Given the description of an element on the screen output the (x, y) to click on. 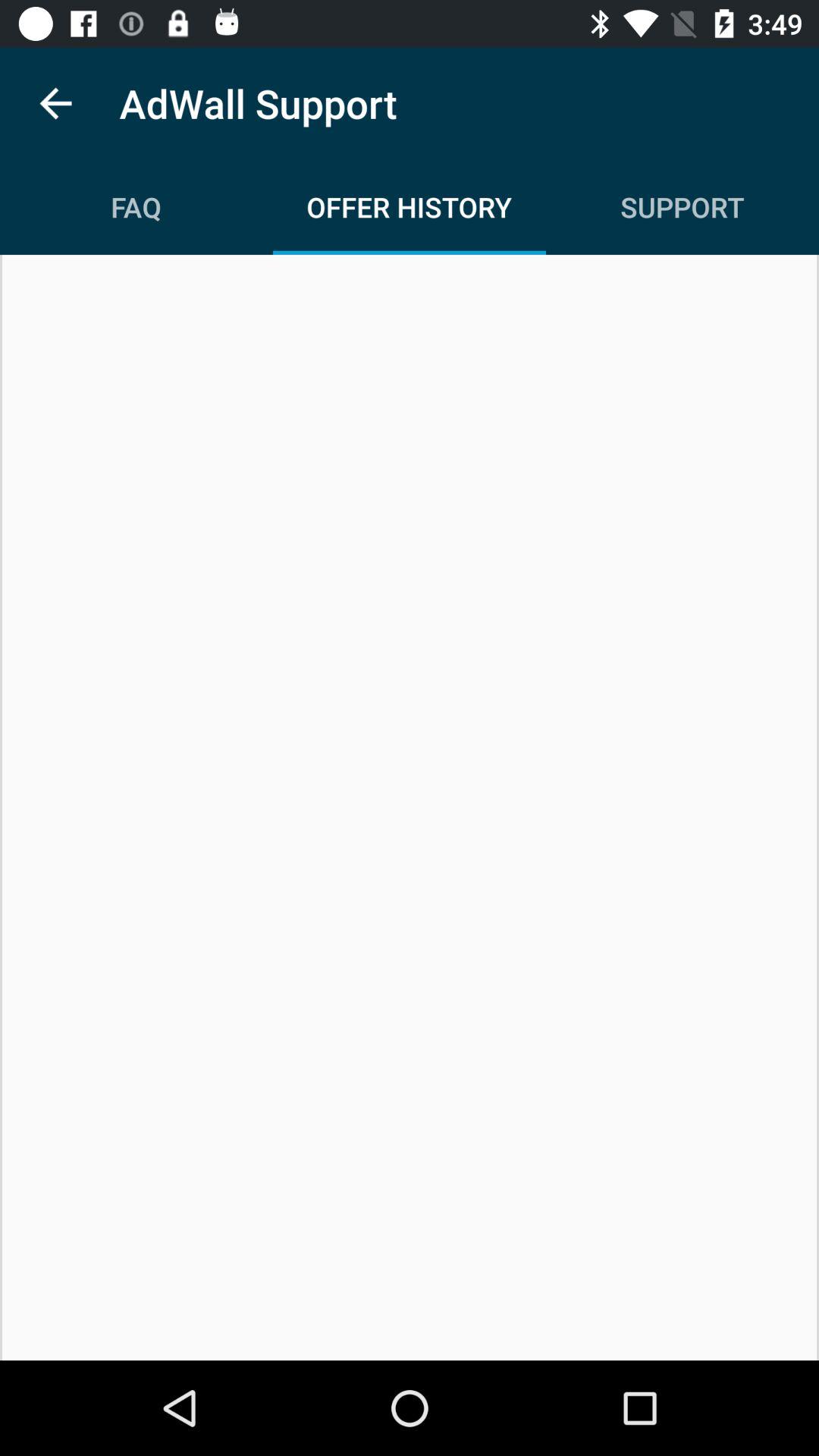
turn off icon to the left of adwall support icon (55, 103)
